Given the description of an element on the screen output the (x, y) to click on. 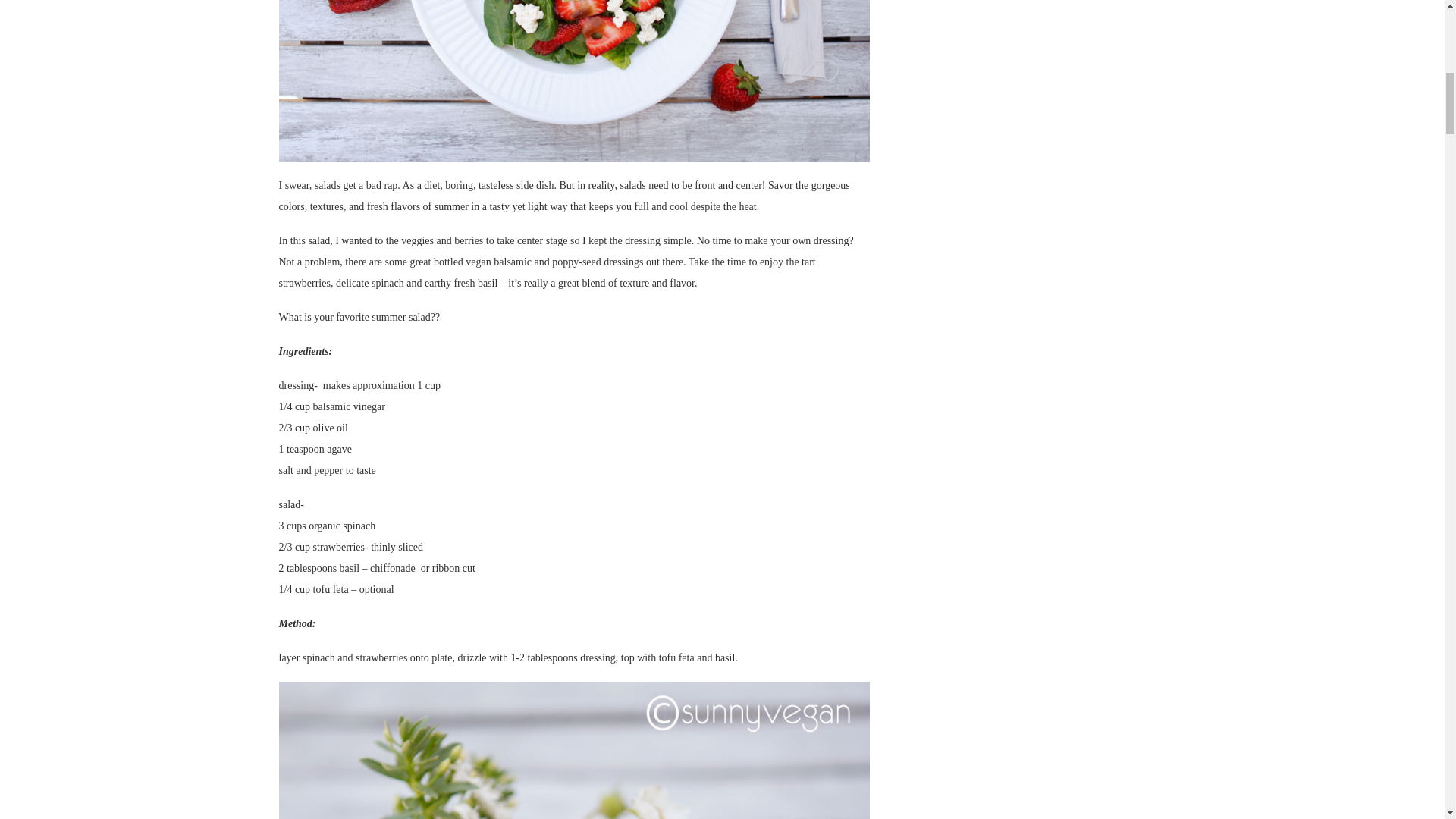
sunny-vegan-strawberry-spinach-salad-basil-balsamic (574, 81)
